Given the description of an element on the screen output the (x, y) to click on. 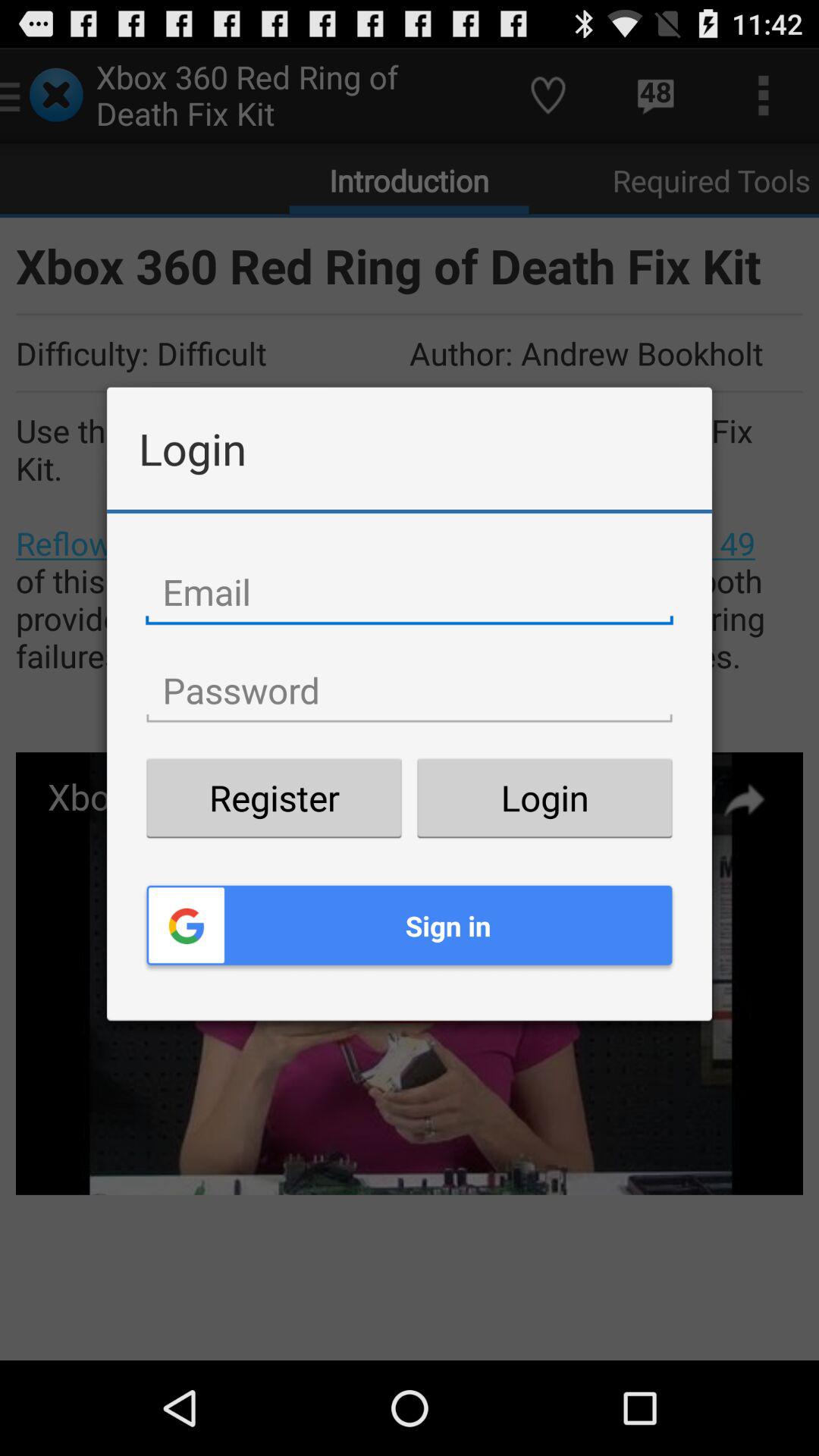
jump until the sign in item (409, 925)
